Given the description of an element on the screen output the (x, y) to click on. 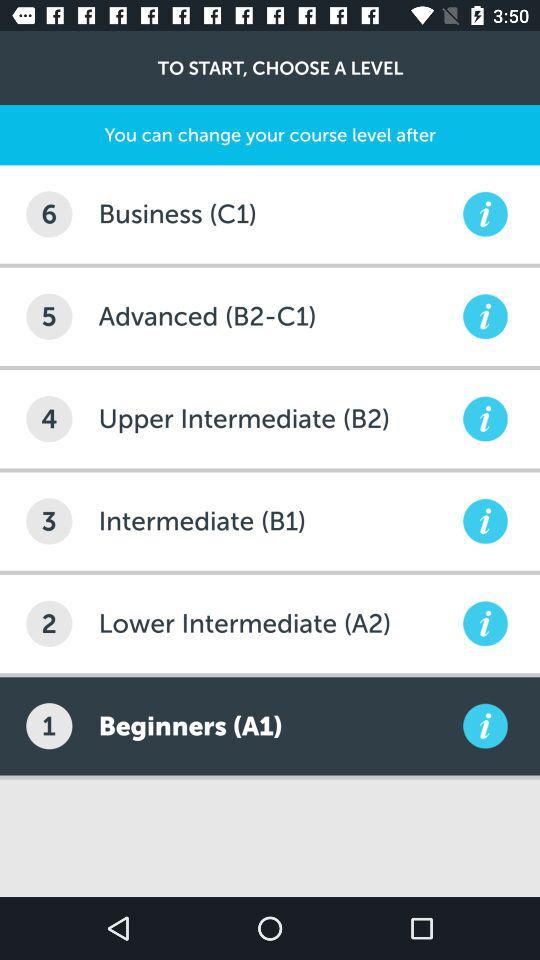
toggle more information (485, 726)
